Given the description of an element on the screen output the (x, y) to click on. 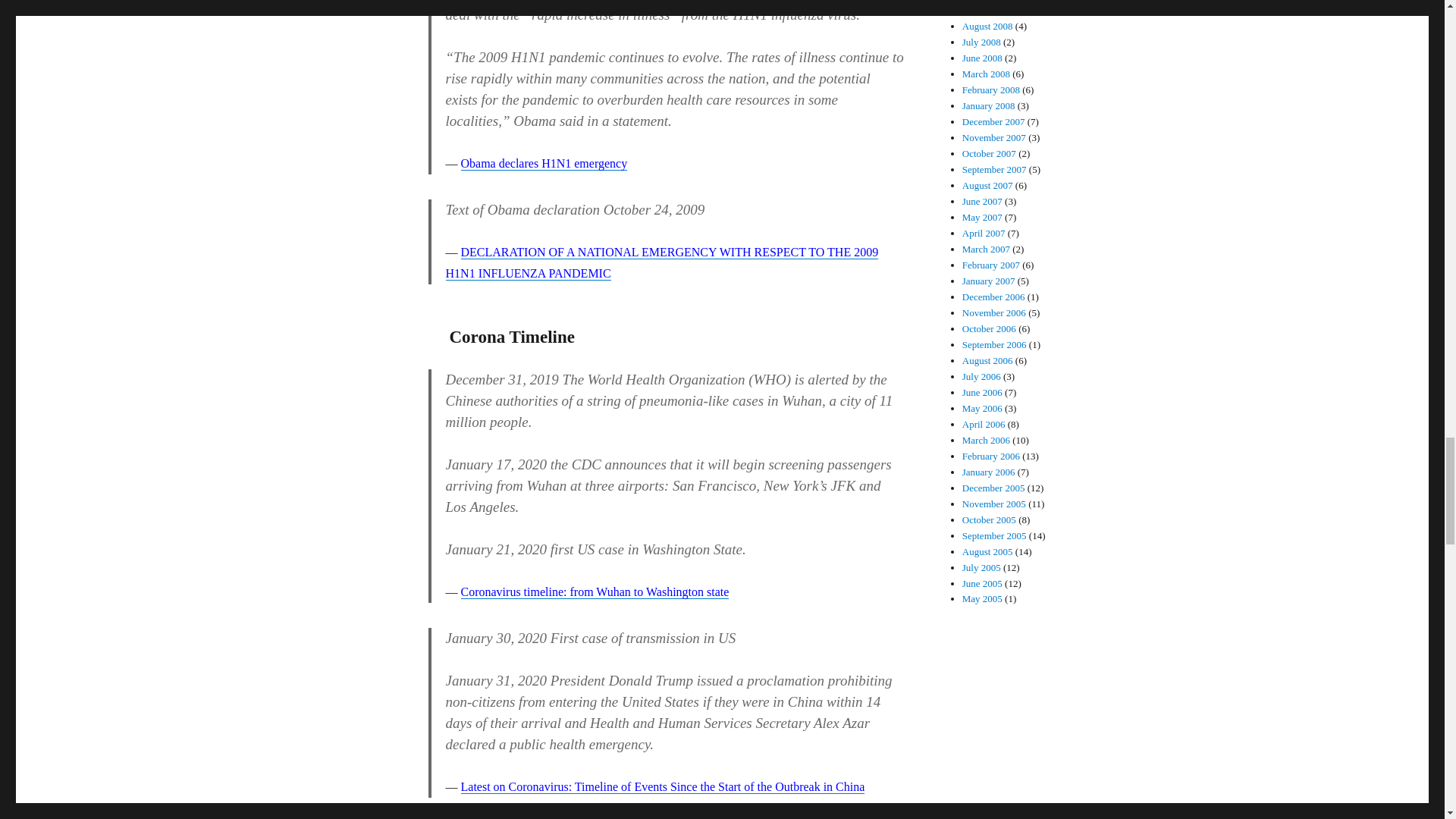
Coronavirus timeline: from Wuhan to Washington state (595, 591)
Obama declares H1N1 emergency (544, 163)
